Given the description of an element on the screen output the (x, y) to click on. 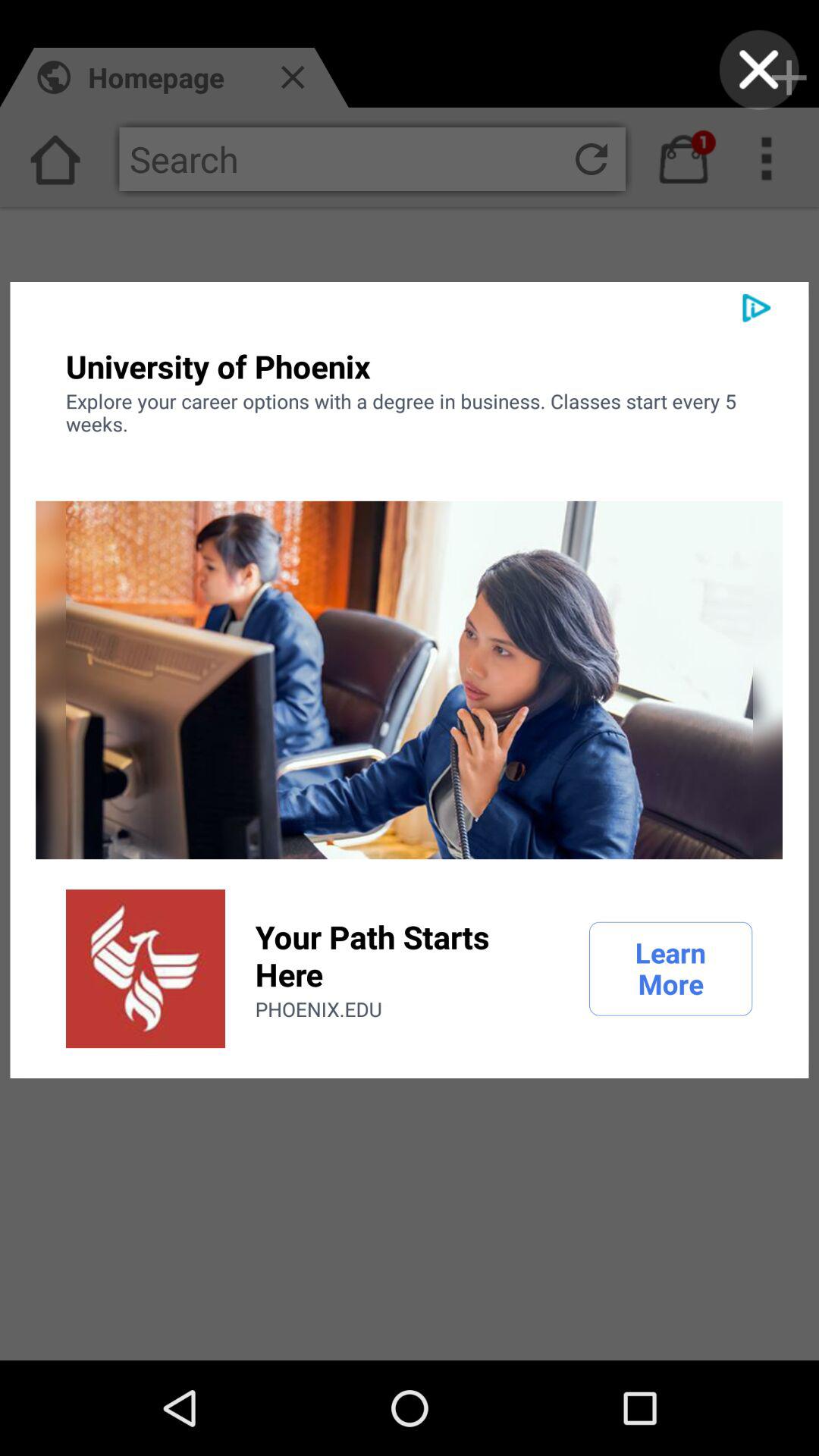
open the item to the right of the your path starts (670, 968)
